Given the description of an element on the screen output the (x, y) to click on. 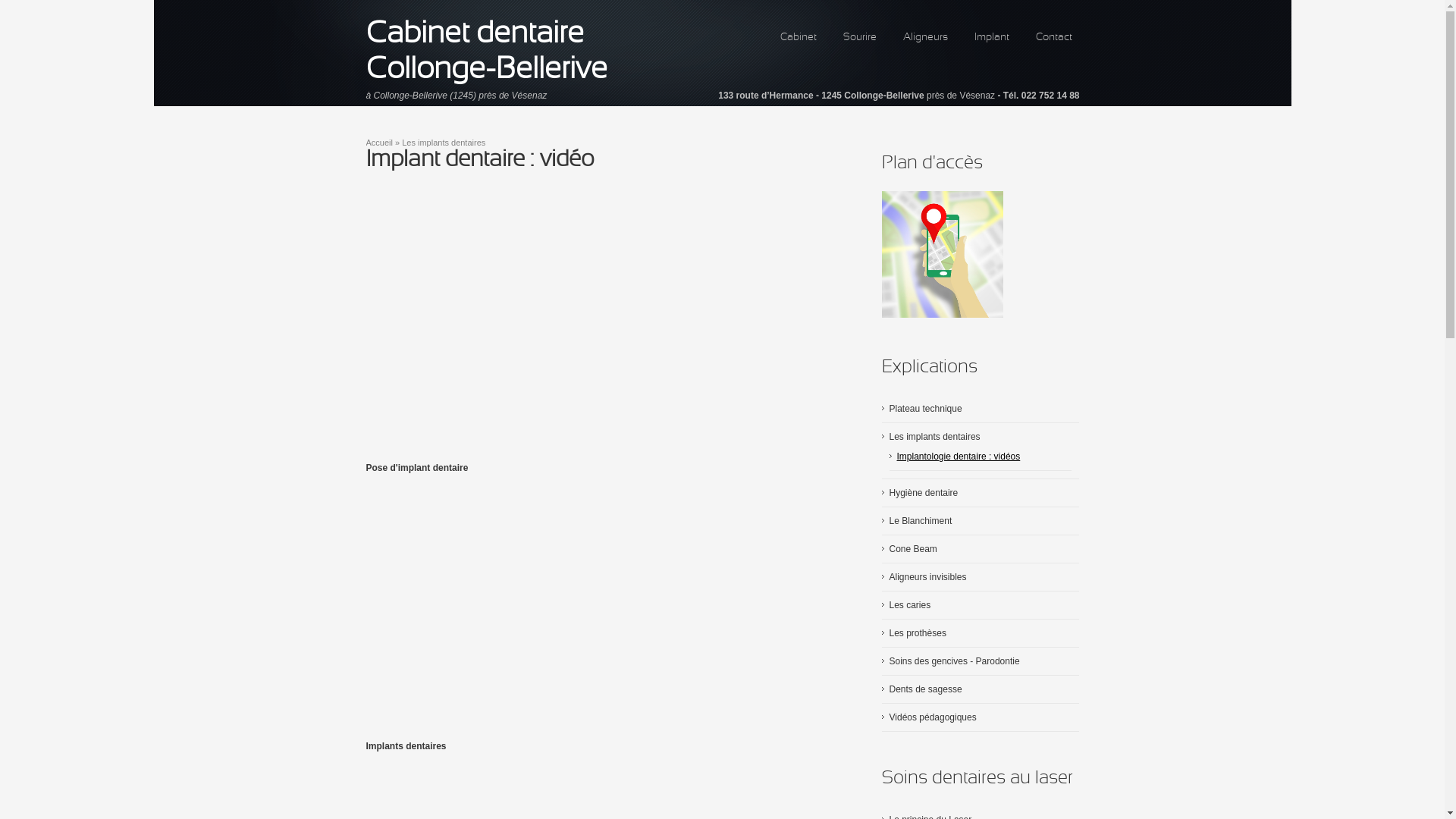
Implant Element type: text (991, 37)
Accueil Element type: text (378, 142)
Les caries Element type: text (909, 604)
Contact Element type: text (1053, 37)
Plateau technique Element type: text (924, 408)
Le Blanchiment Element type: text (919, 520)
Les implants dentaires Element type: text (443, 142)
Soins des gencives - Parodontie Element type: text (953, 660)
Dents de sagesse Element type: text (924, 689)
Aligneurs invisibles Element type: text (927, 576)
Les implants dentaires Element type: text (933, 436)
Cone Beam Element type: text (912, 548)
Aligneurs Element type: text (924, 37)
Cabinet dentaire Collonge-Bellerive Element type: text (485, 52)
Sourire Element type: text (859, 37)
Cabinet Element type: text (797, 37)
Aller au contenu principal Element type: text (51, 0)
